Given the description of an element on the screen output the (x, y) to click on. 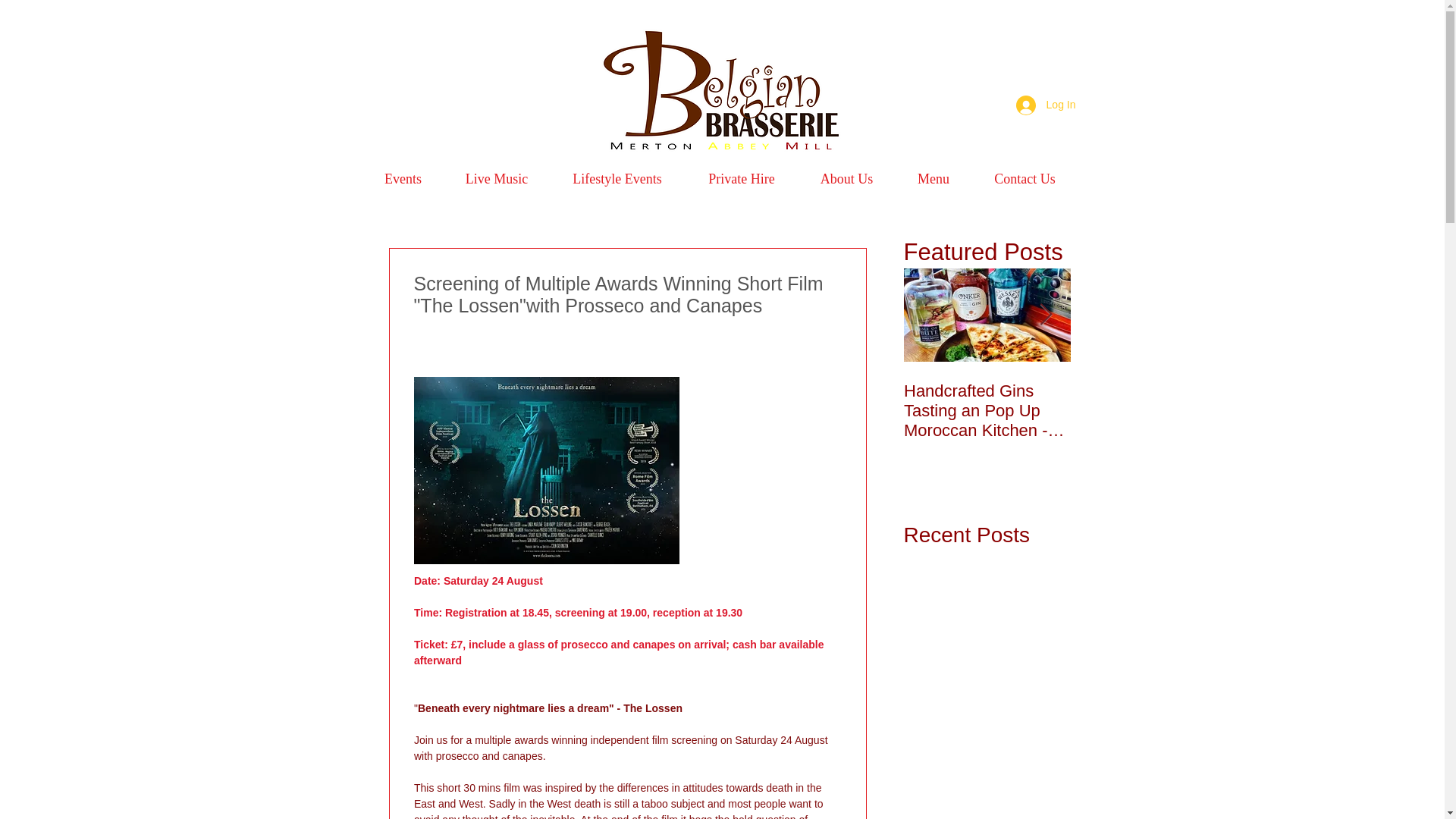
Menu (933, 178)
Private Hire (741, 178)
Friday Arts and Crafts Club (1153, 400)
Contact Us (1025, 178)
Events (403, 178)
Log In (1046, 104)
Live Music (497, 178)
About Us (846, 178)
Lifestyle Events (616, 178)
